Given the description of an element on the screen output the (x, y) to click on. 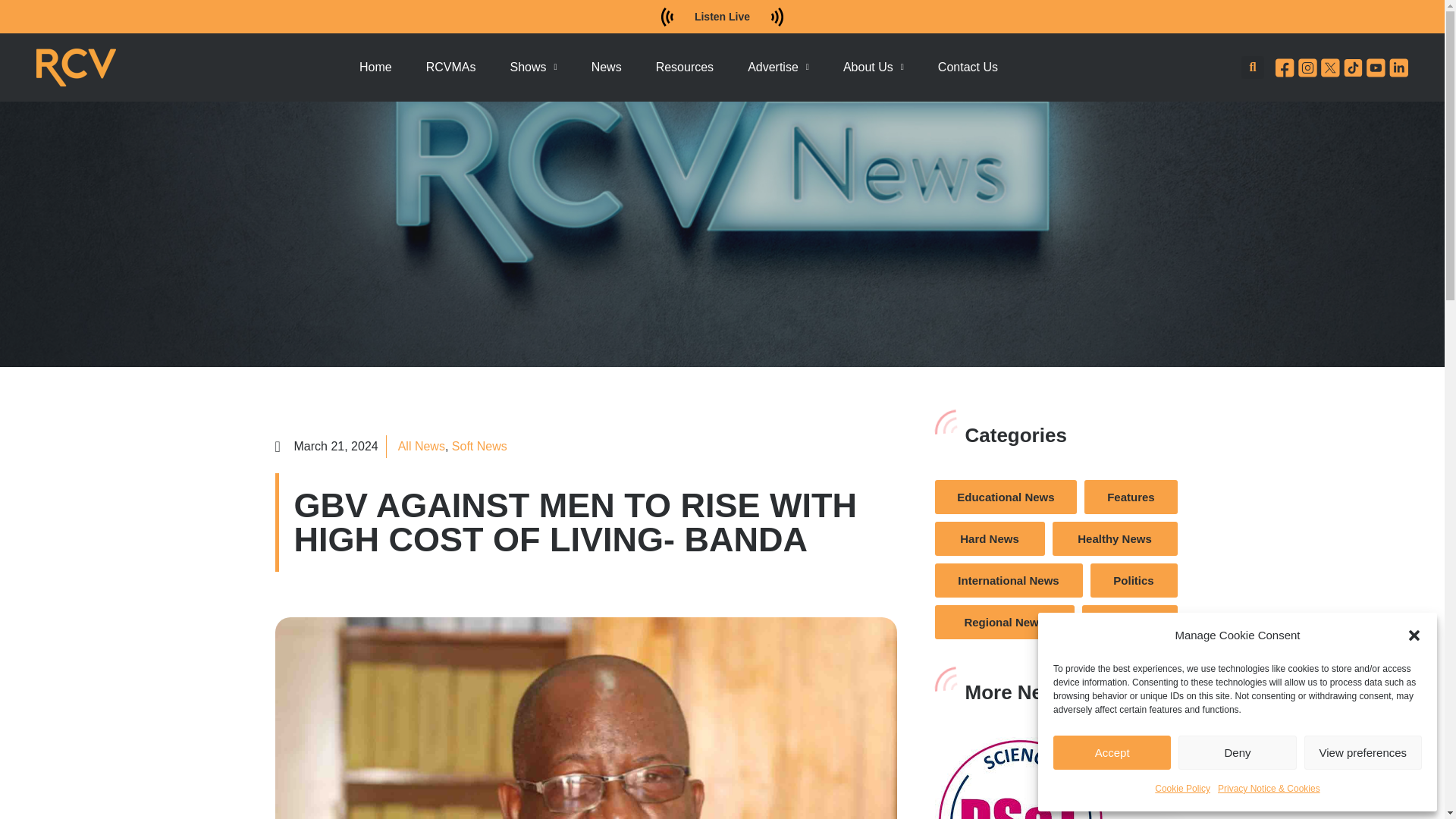
Deny (1236, 752)
Listen Live (721, 16)
Advertise (778, 67)
RCVMAs (451, 67)
Resources (684, 67)
Contact Us (968, 67)
About Us (873, 67)
Shows (533, 67)
Accept (1111, 752)
News (606, 67)
Home (375, 67)
Cookie Policy (1181, 788)
ORANGE (76, 67)
View preferences (1363, 752)
